Given the description of an element on the screen output the (x, y) to click on. 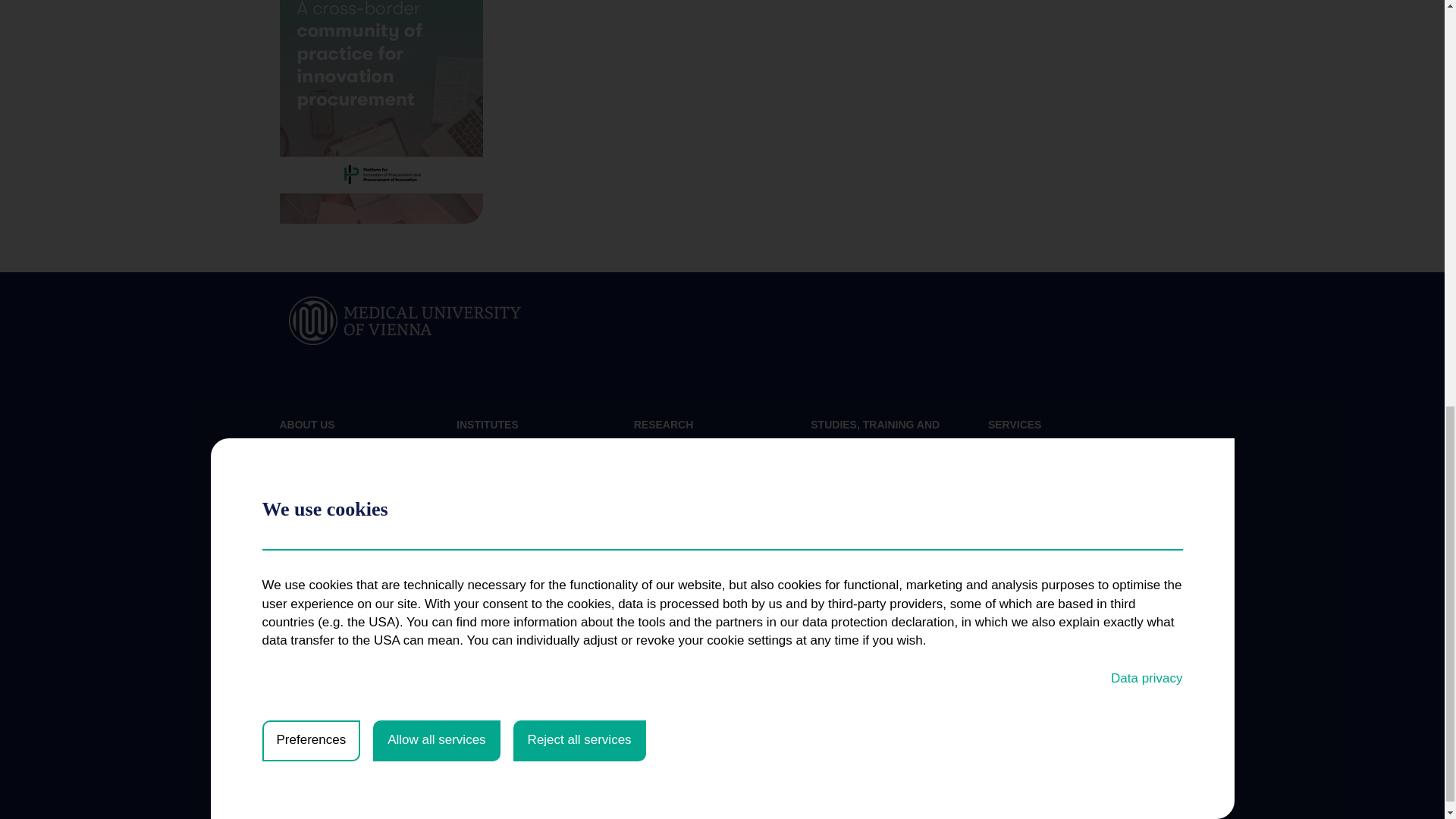
Click to open the leaflet (380, 111)
Open Positions (314, 519)
Medical University of Vienna (404, 320)
Medical University of Vienna (404, 319)
News (292, 469)
The Center (305, 445)
Staff Members (313, 494)
